Given the description of an element on the screen output the (x, y) to click on. 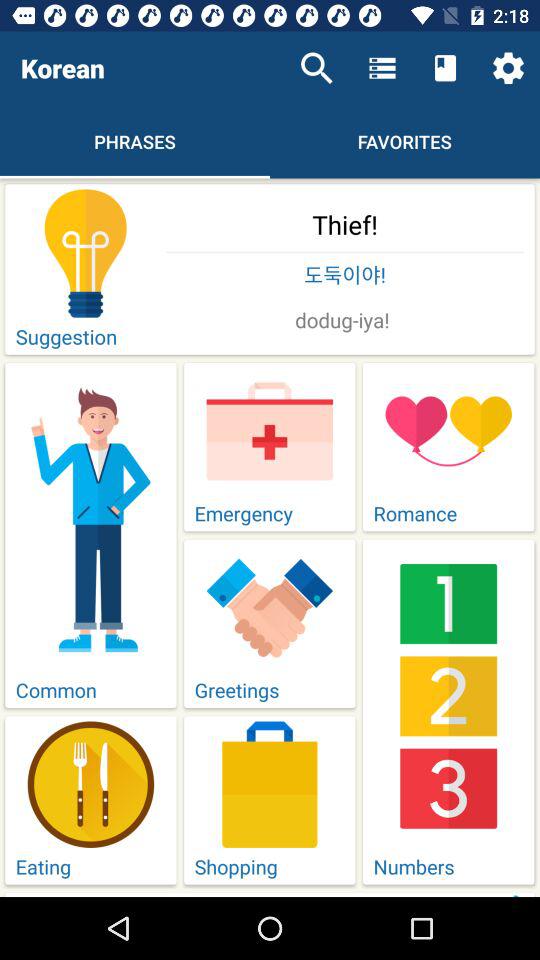
launch item to the right of the korean item (316, 67)
